Given the description of an element on the screen output the (x, y) to click on. 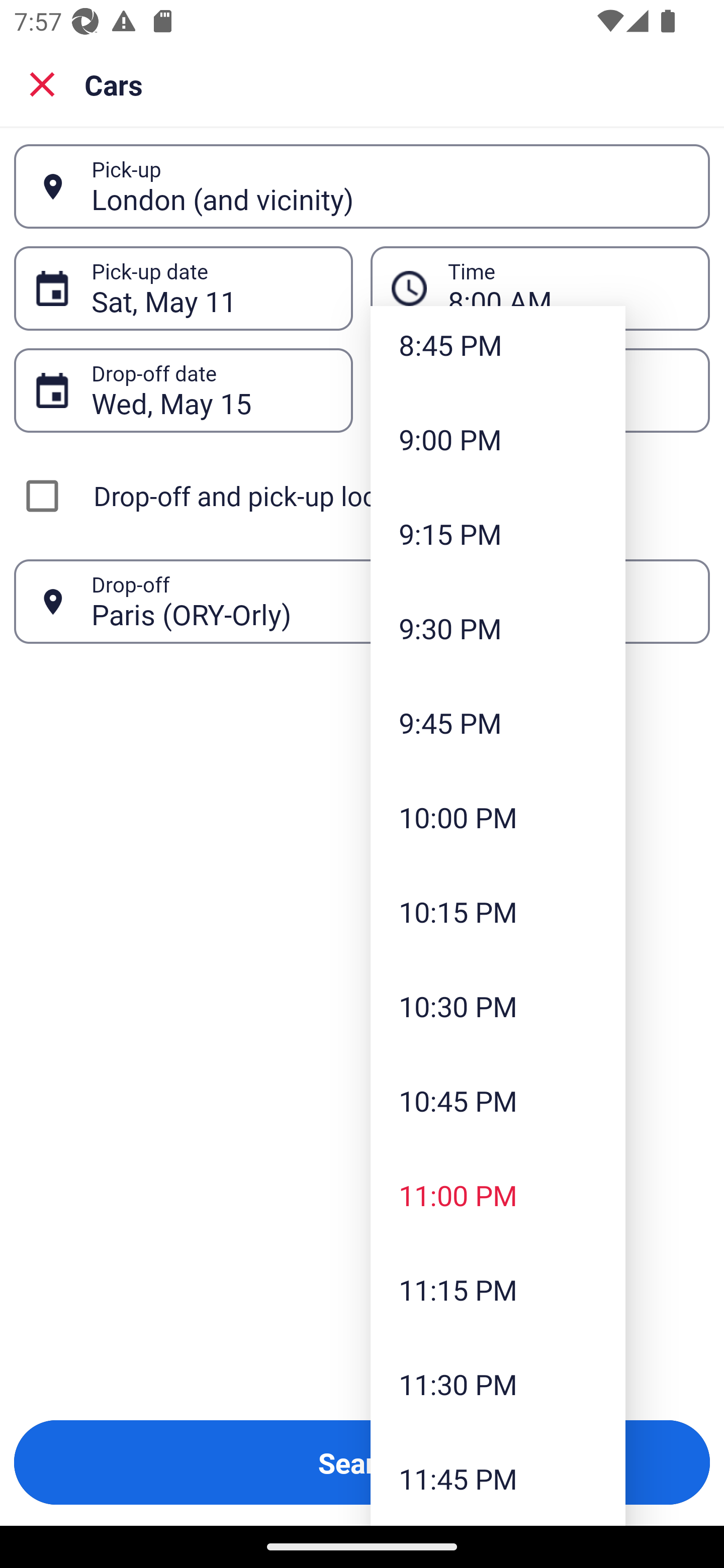
8:45 PM (497, 348)
9:00 PM (497, 439)
9:15 PM (497, 533)
9:30 PM (497, 628)
9:45 PM (497, 722)
10:00 PM (497, 816)
10:15 PM (497, 911)
10:30 PM (497, 1006)
10:45 PM (497, 1100)
11:00 PM (497, 1194)
11:15 PM (497, 1289)
11:30 PM (497, 1384)
11:45 PM (497, 1478)
